Given the description of an element on the screen output the (x, y) to click on. 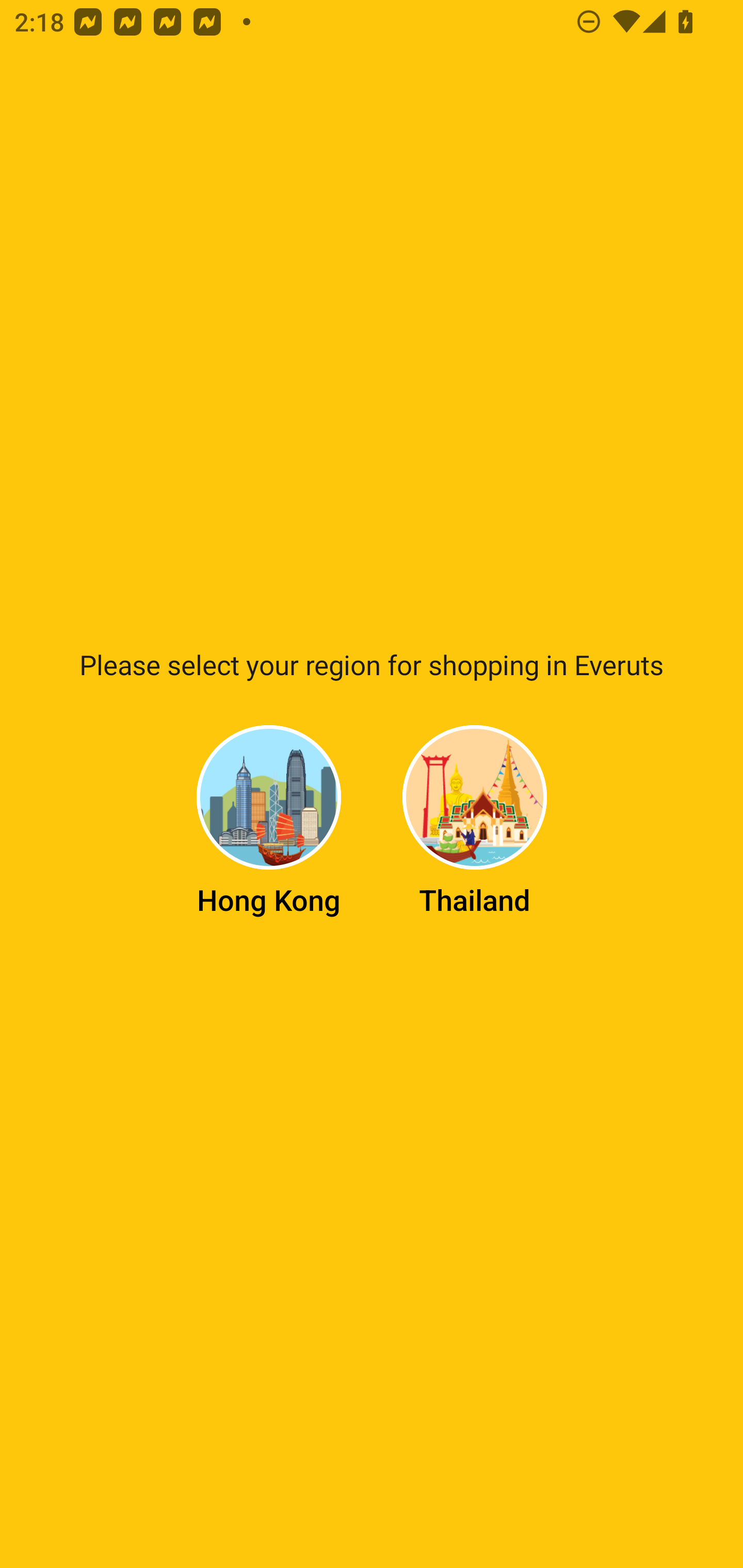
Hong Kong (268, 821)
Thailand (474, 821)
